Given the description of an element on the screen output the (x, y) to click on. 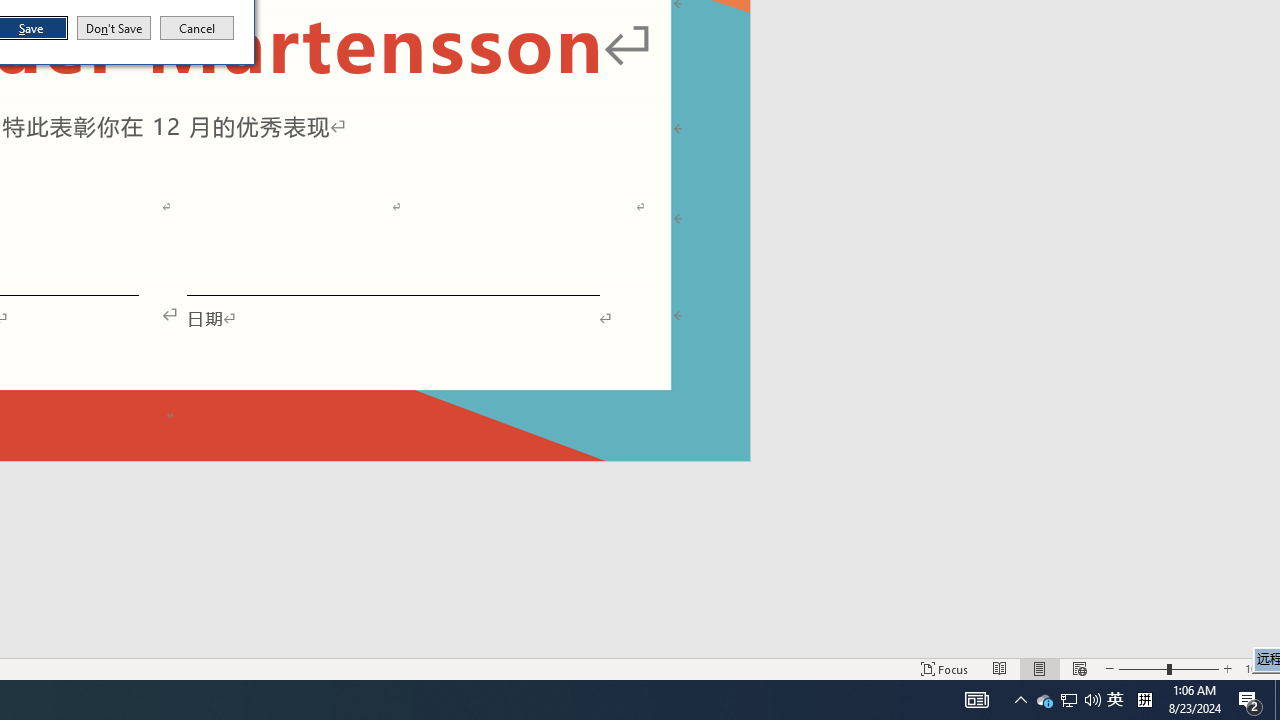
Don't Save (113, 27)
Q2790: 100% (1092, 699)
Show desktop (1069, 699)
Action Center, 2 new notifications (1277, 699)
